Given the description of an element on the screen output the (x, y) to click on. 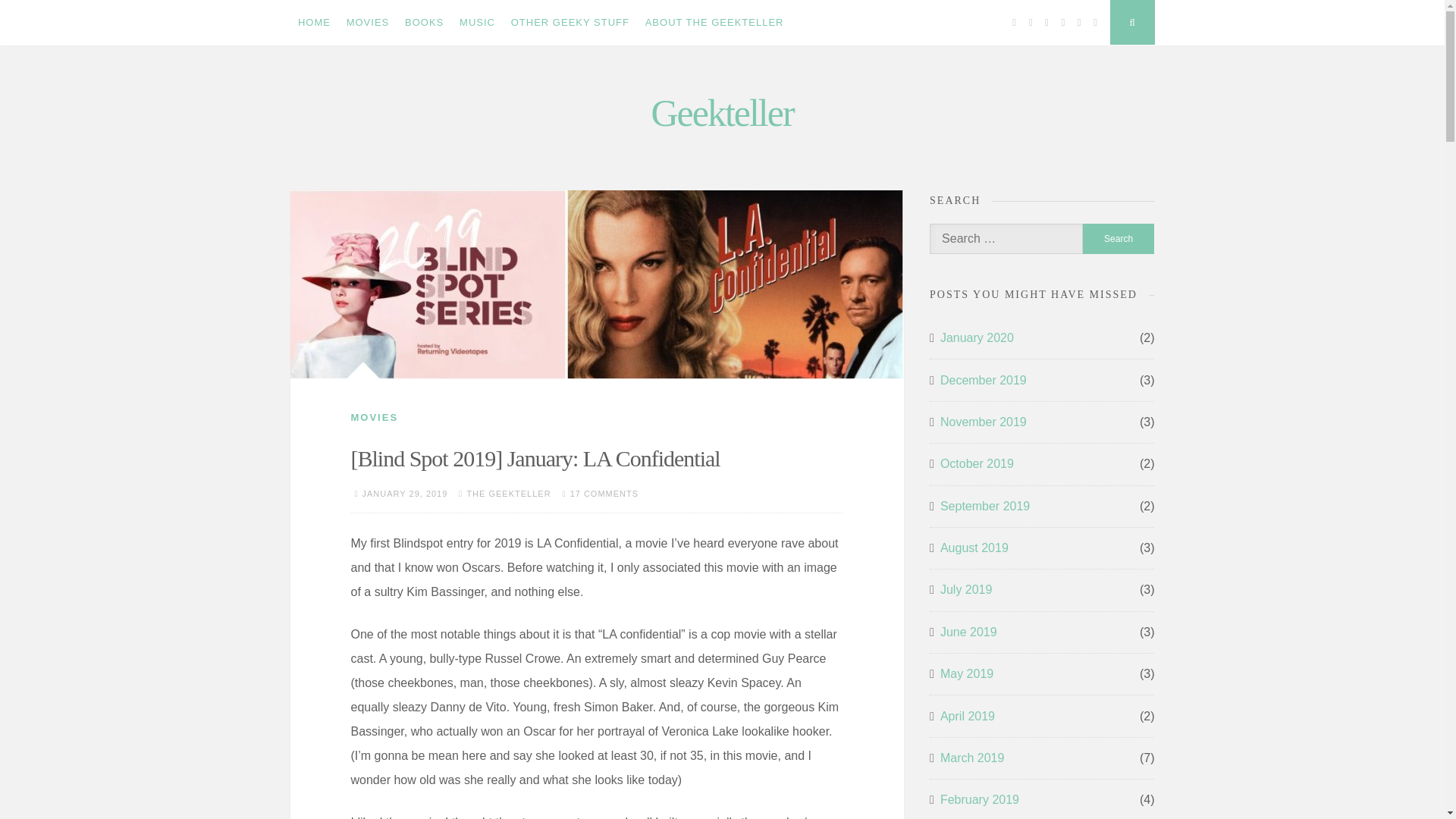
YouTube (1063, 22)
MOVIES (373, 417)
Geekteller (721, 112)
JANUARY 29, 2019 (405, 492)
Search (1118, 238)
Search (1118, 238)
ABOUT THE GEEKTELLER (714, 22)
RSS (1095, 22)
MOVIES (366, 22)
BOOKS (424, 22)
MUSIC (477, 22)
Instagram (1047, 22)
Tumblr (1078, 22)
Facebook (1014, 22)
Tumblr (1078, 22)
